Given the description of an element on the screen output the (x, y) to click on. 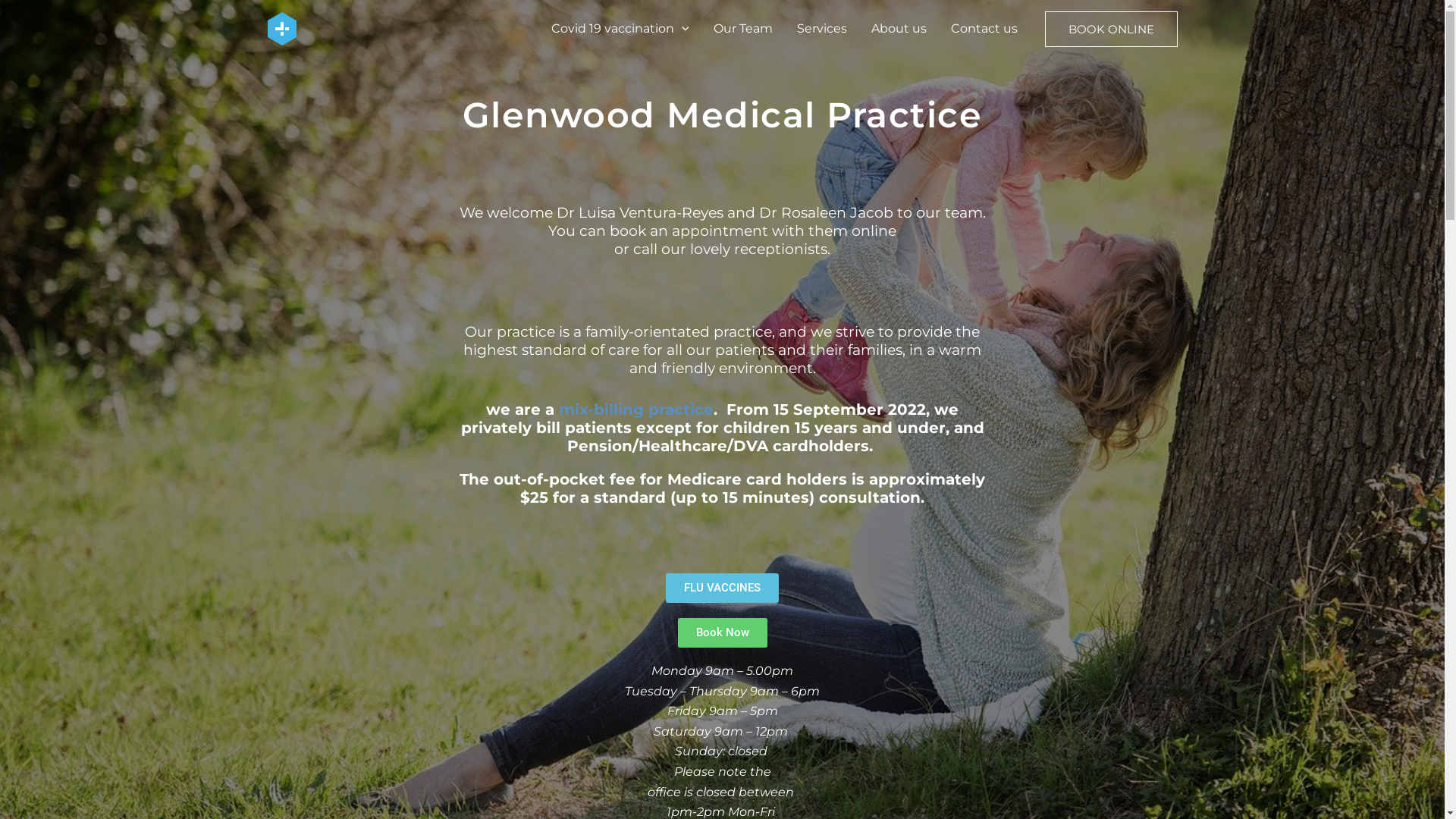
mix-billing practice Element type: text (635, 409)
Services Element type: text (821, 28)
Book Now Element type: text (722, 632)
Contact us Element type: text (983, 28)
About us Element type: text (898, 28)
BOOK ONLINE Element type: text (1110, 28)
FLU VACCINES Element type: text (721, 587)
Covid 19 vaccination Element type: text (620, 28)
Our Team Element type: text (742, 28)
